Given the description of an element on the screen output the (x, y) to click on. 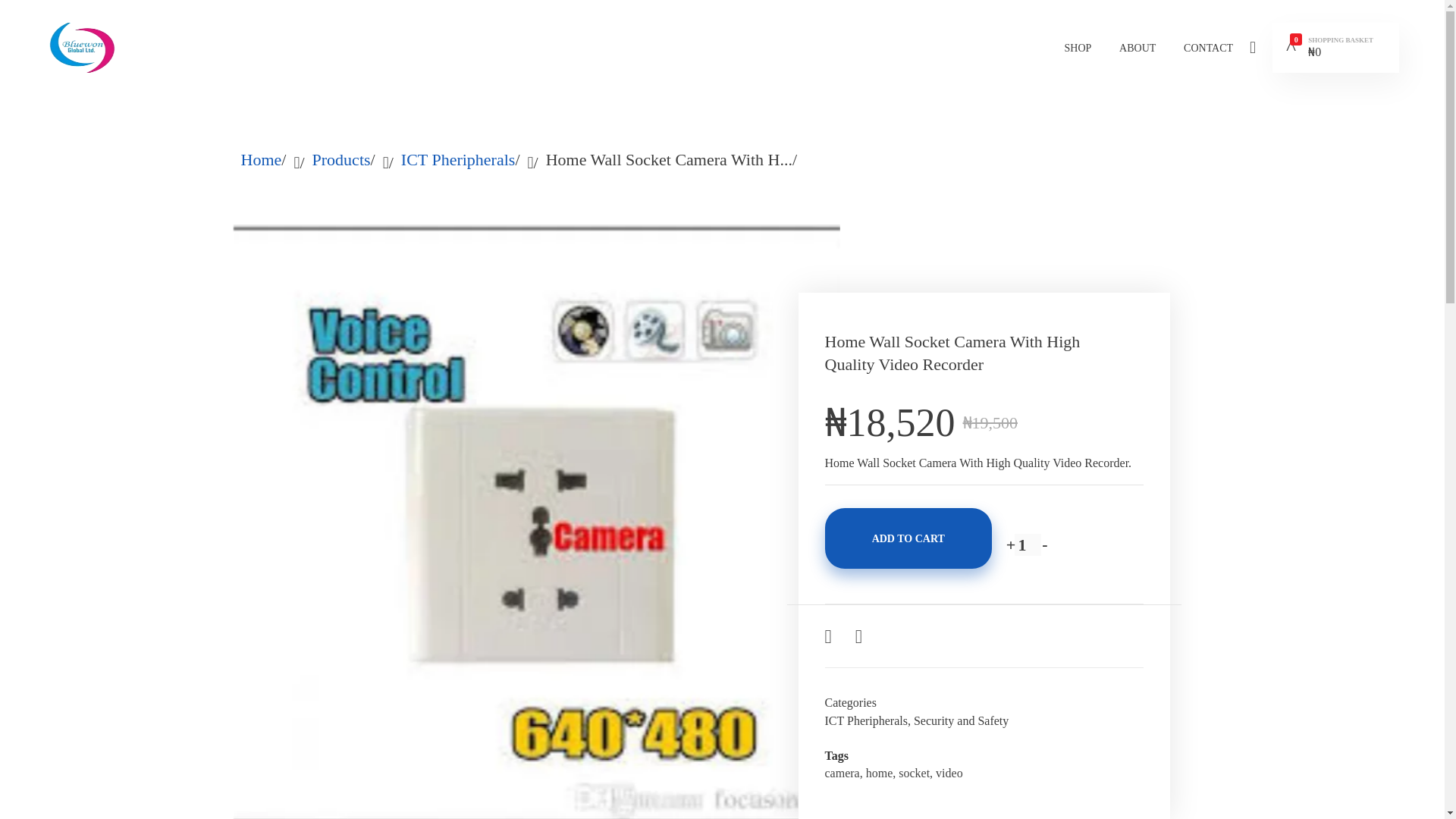
ADD TO CART (908, 537)
camera (842, 772)
video (949, 772)
CONTACT (1201, 47)
Security and Safety (961, 720)
Products (342, 158)
ICT Pheripherals (458, 158)
ICT Pheripherals (458, 158)
ICT Pheripherals (866, 720)
Home (261, 158)
socket (914, 772)
1 (1027, 544)
ABOUT (1137, 47)
home (879, 772)
